Given the description of an element on the screen output the (x, y) to click on. 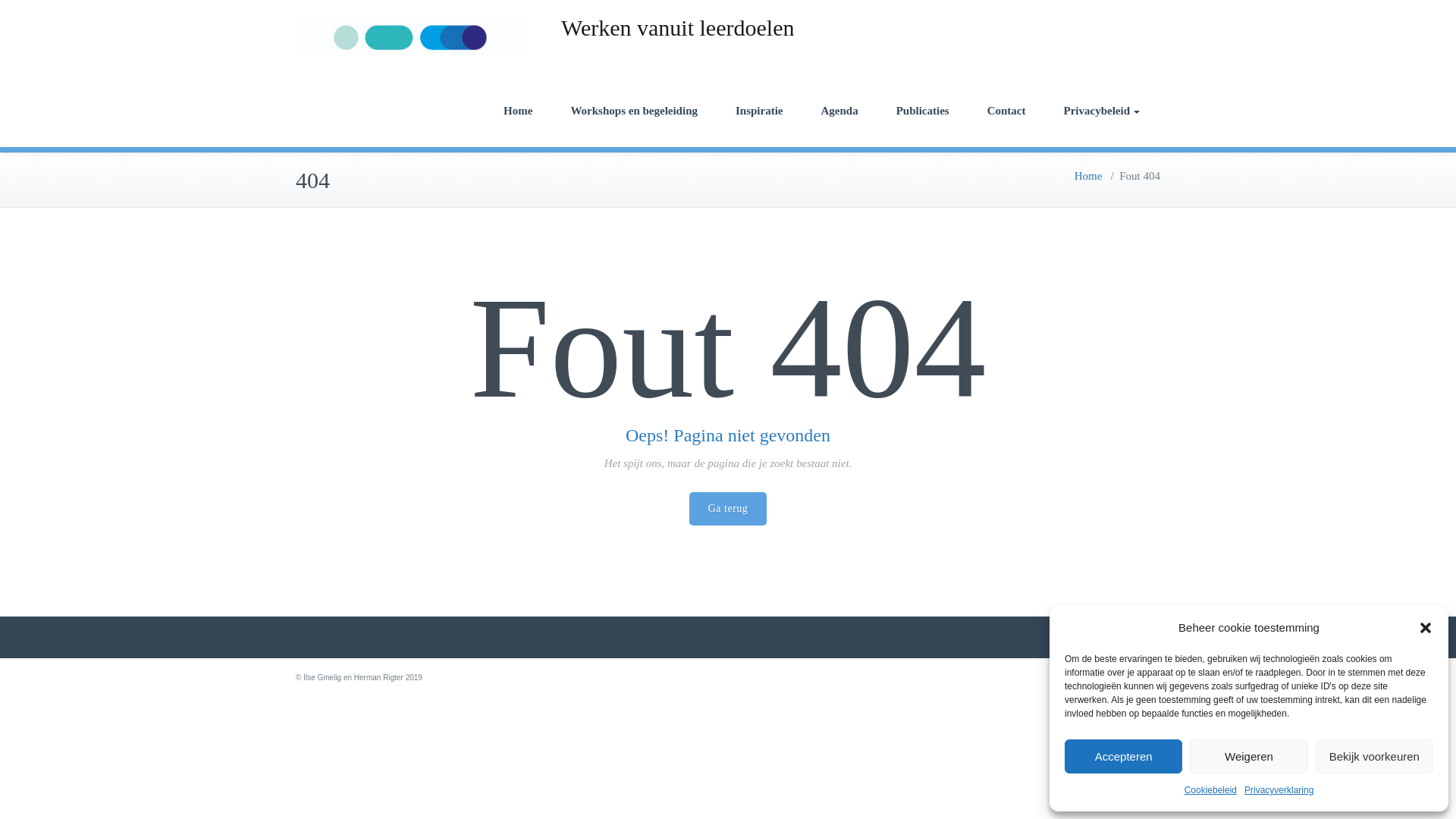
Privacybeleid (1101, 110)
Workshops en begeleiding (633, 110)
Contact (1006, 110)
Werken vanuit leerdoelen (676, 27)
Home (1088, 175)
Inspiratie (759, 110)
Agenda (839, 110)
Home (517, 110)
Ga terug (727, 508)
